Given the description of an element on the screen output the (x, y) to click on. 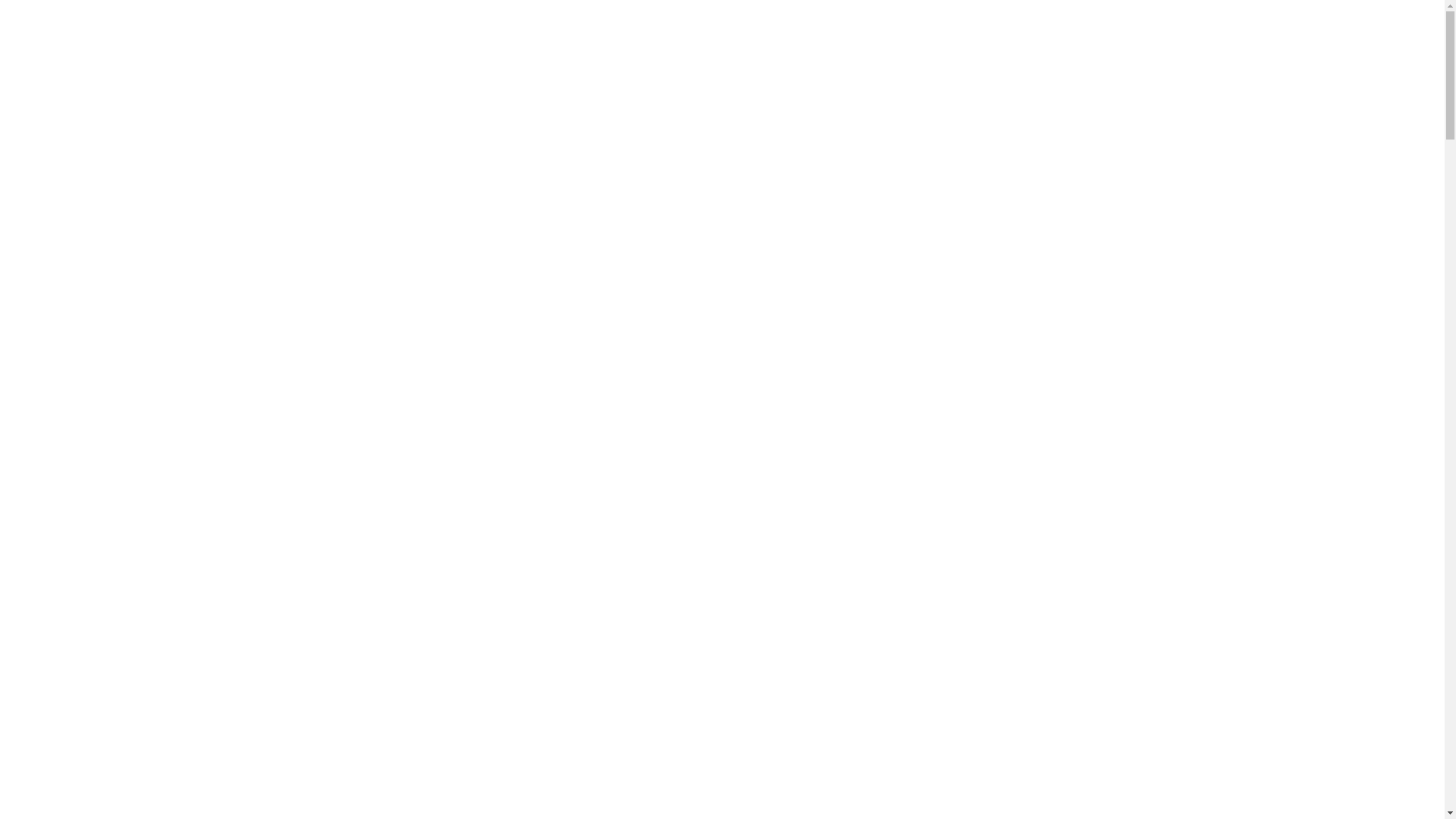
contact Element type: text (945, 41)
welcome Element type: text (498, 41)
discover Element type: text (597, 41)
explore Element type: text (846, 41)
